Given the description of an element on the screen output the (x, y) to click on. 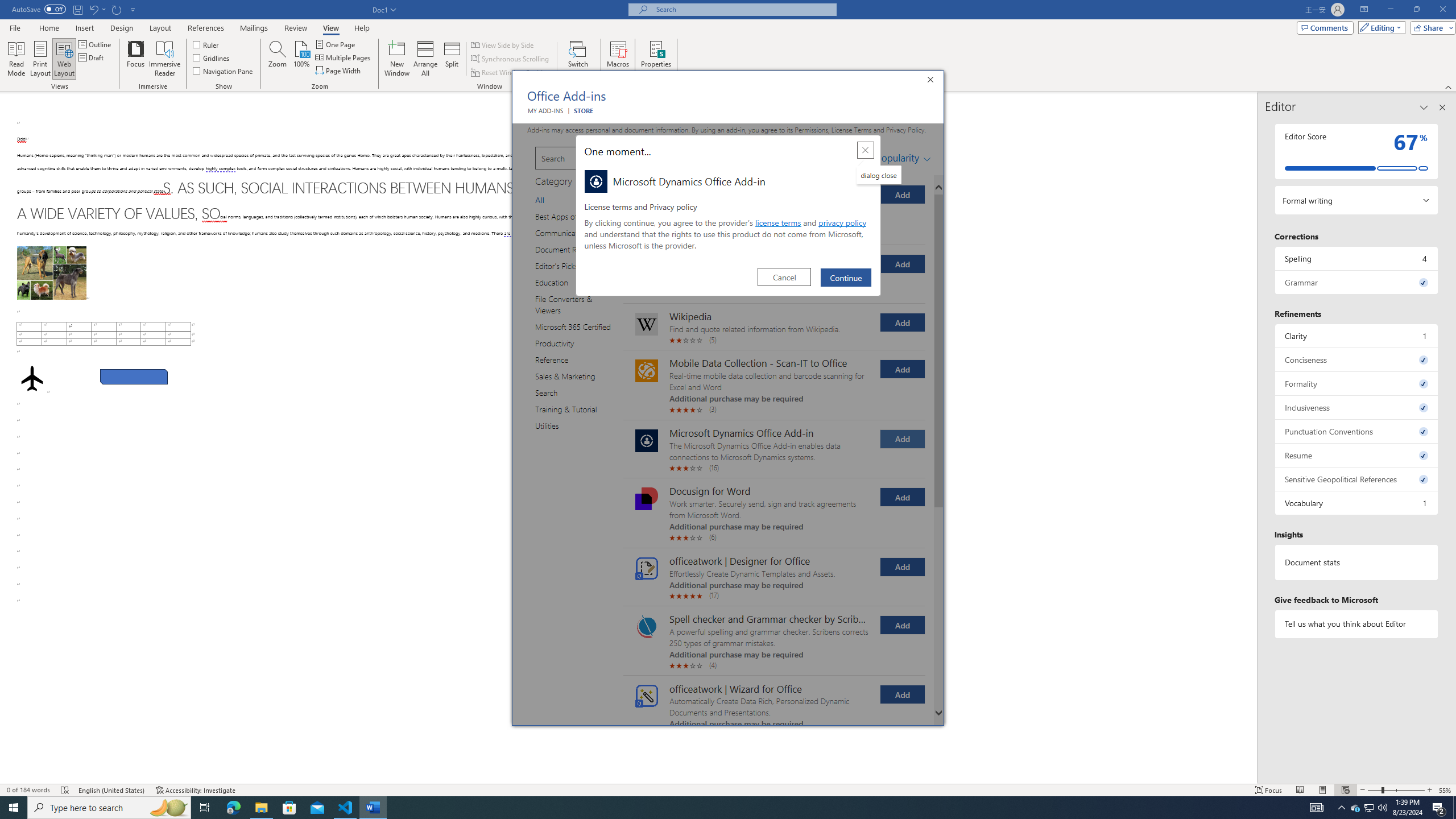
Outline (95, 44)
Multiple Pages (343, 56)
